Given the description of an element on the screen output the (x, y) to click on. 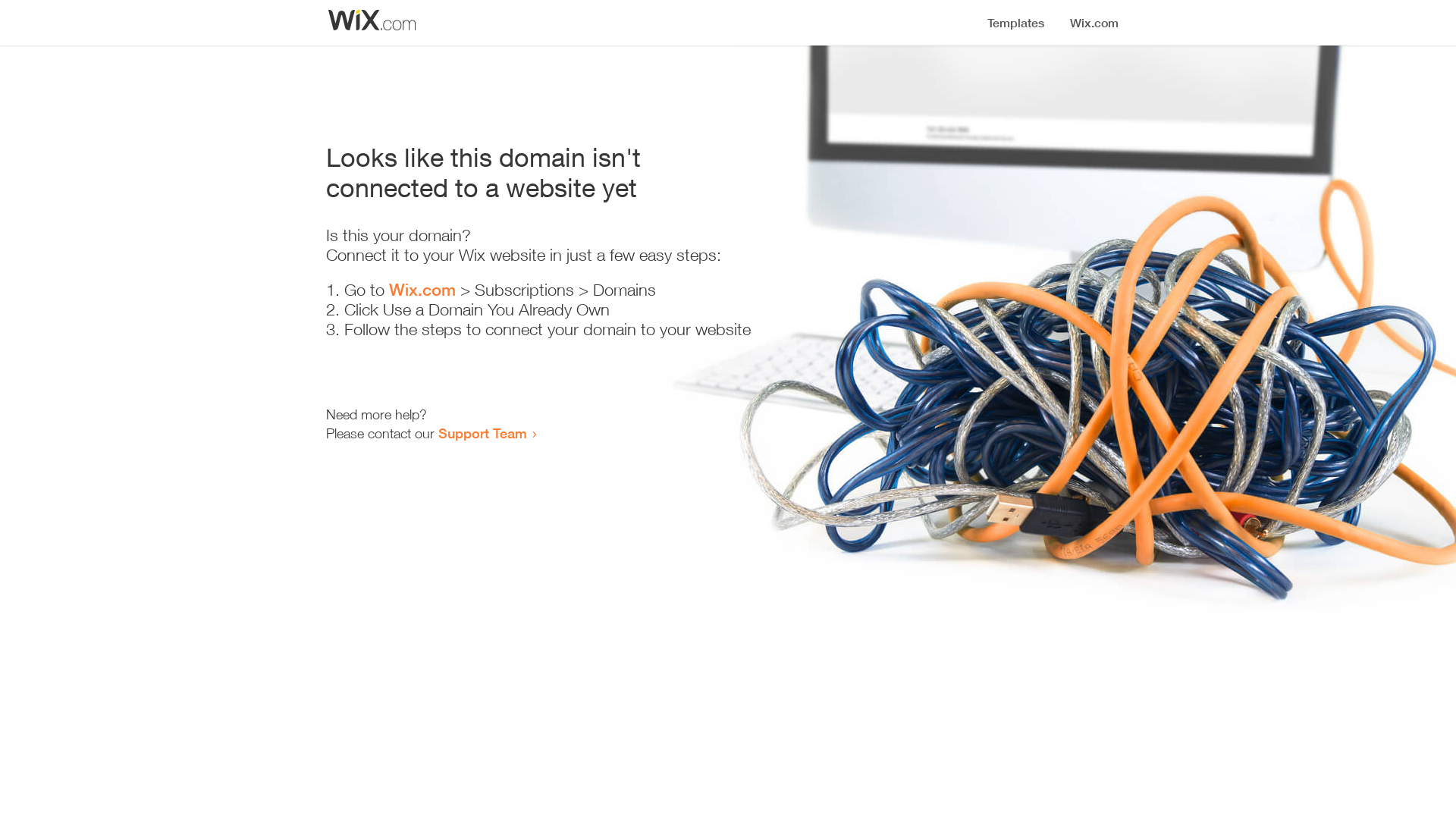
Support Team Element type: text (482, 432)
Wix.com Element type: text (422, 289)
